Given the description of an element on the screen output the (x, y) to click on. 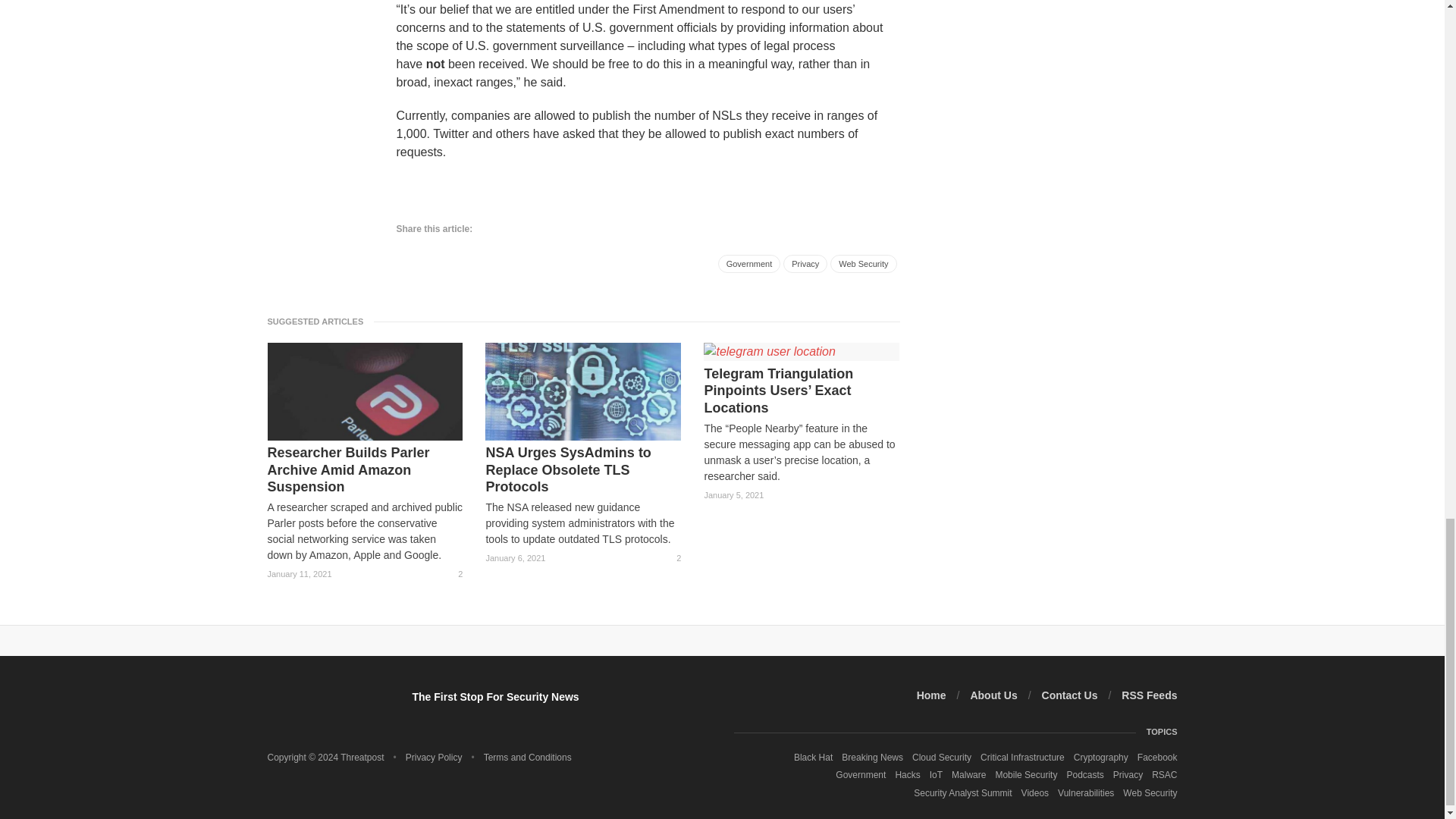
2 (671, 558)
Web Security (862, 263)
Government (748, 263)
SUGGESTED ARTICLES (319, 320)
NSA Urges SysAdmins to Replace Obsolete TLS Protocols (582, 470)
Researcher Builds Parler Archive Amid Amazon Suspension (364, 470)
Privacy (805, 263)
2 (453, 574)
